Given the description of an element on the screen output the (x, y) to click on. 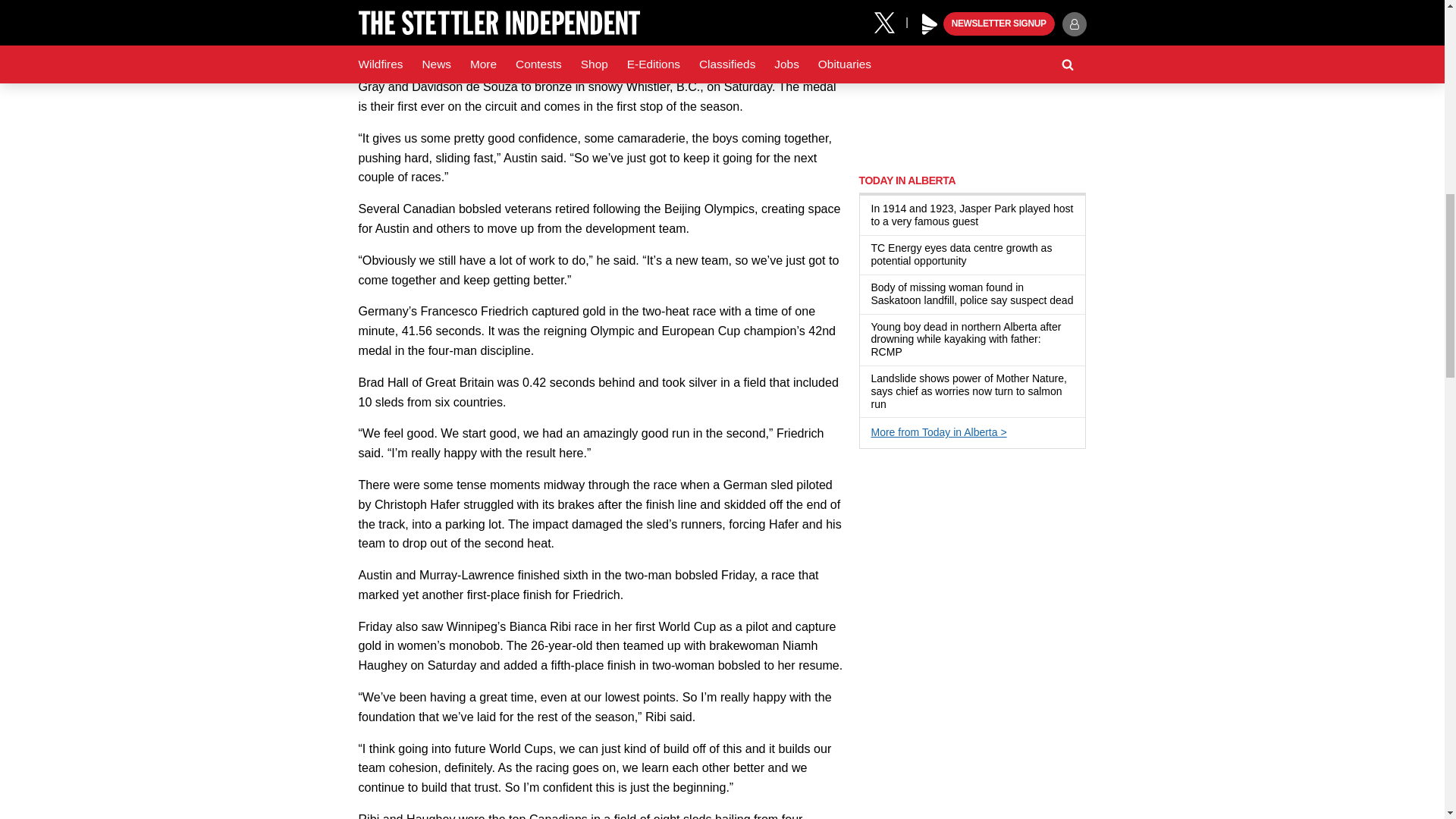
Has a gallery (986, 222)
